Given the description of an element on the screen output the (x, y) to click on. 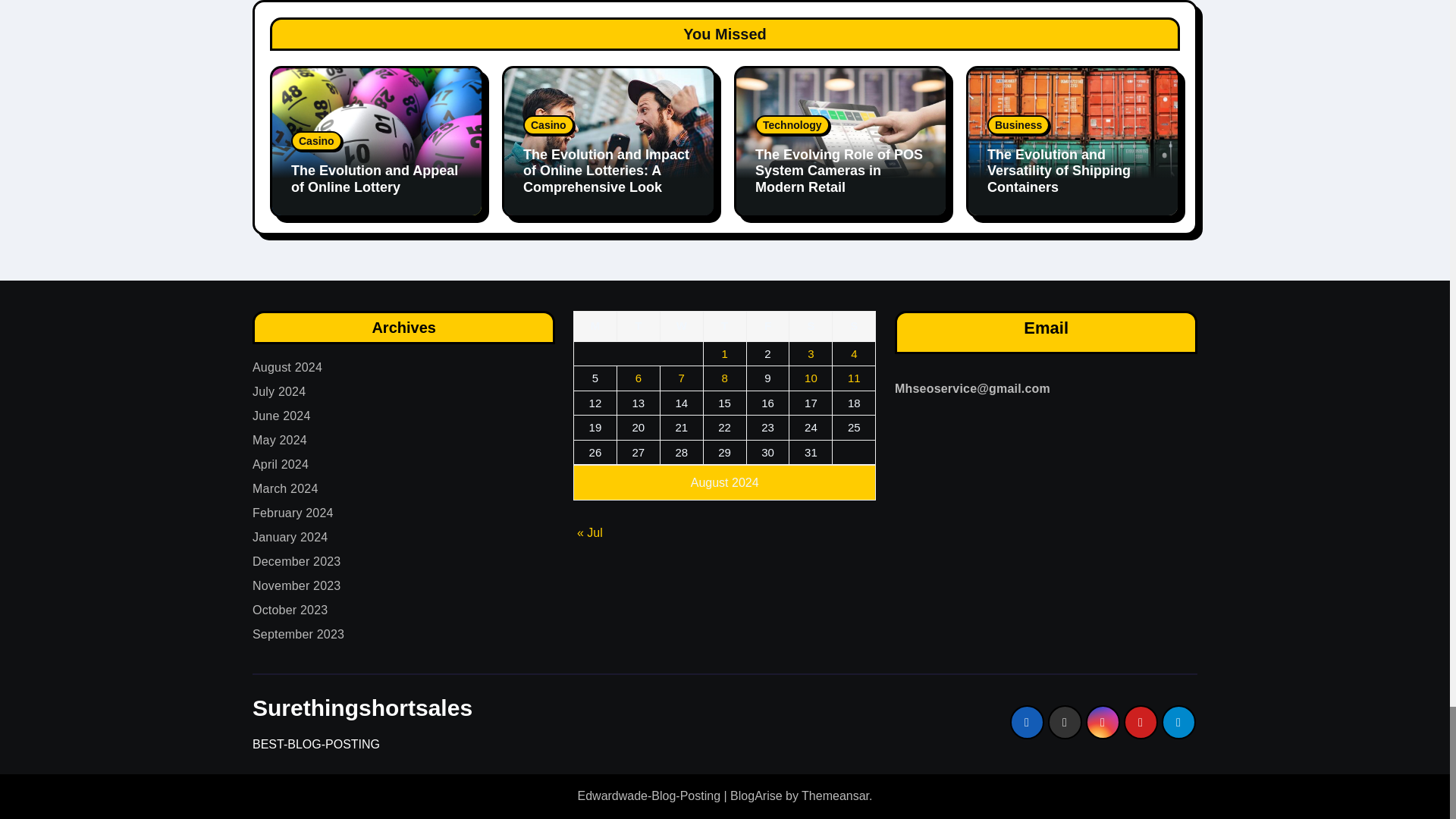
Permalink to: The Evolution and Appeal of Online Lottery (374, 178)
